Given the description of an element on the screen output the (x, y) to click on. 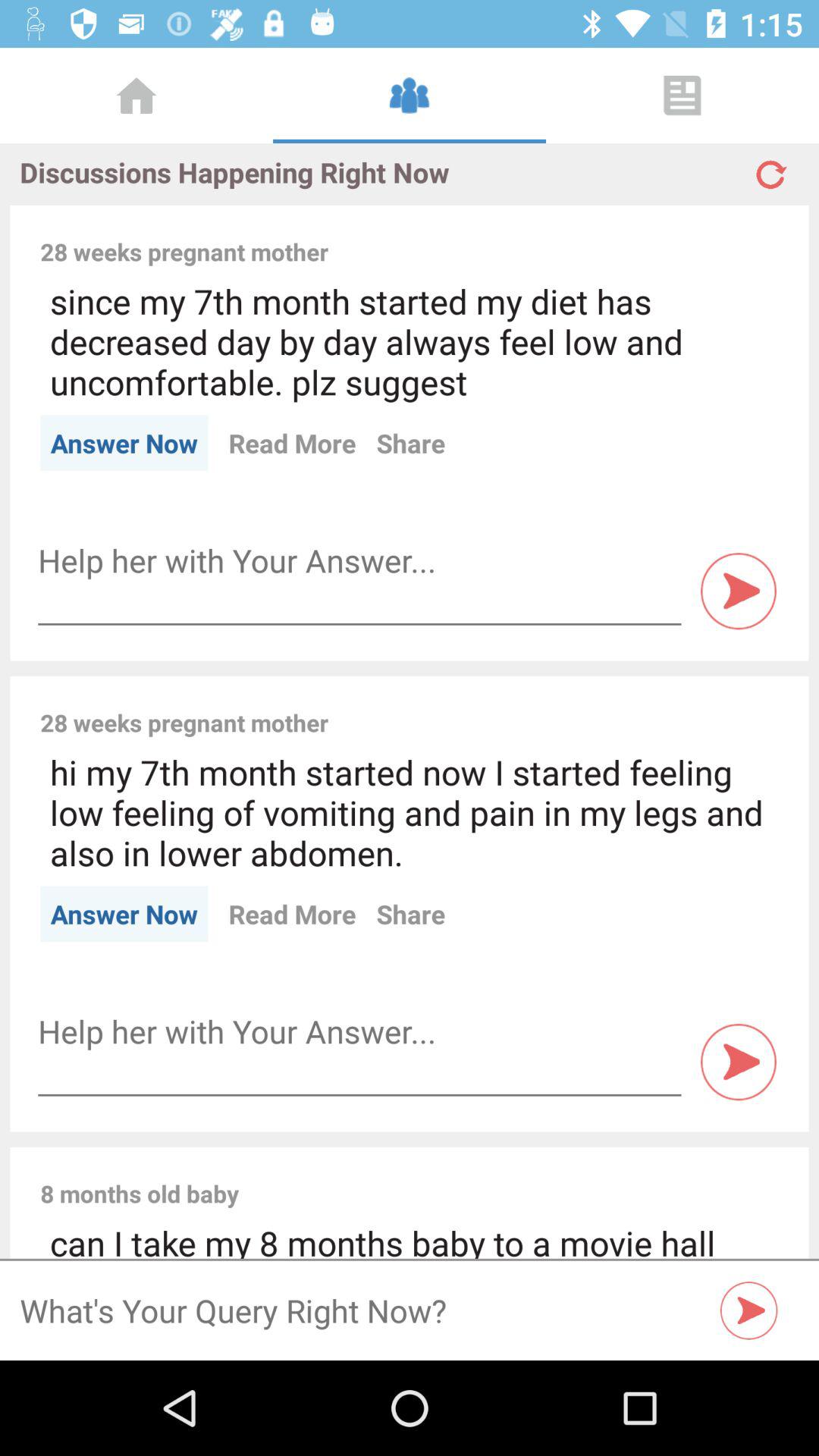
toggle play (738, 590)
